Given the description of an element on the screen output the (x, y) to click on. 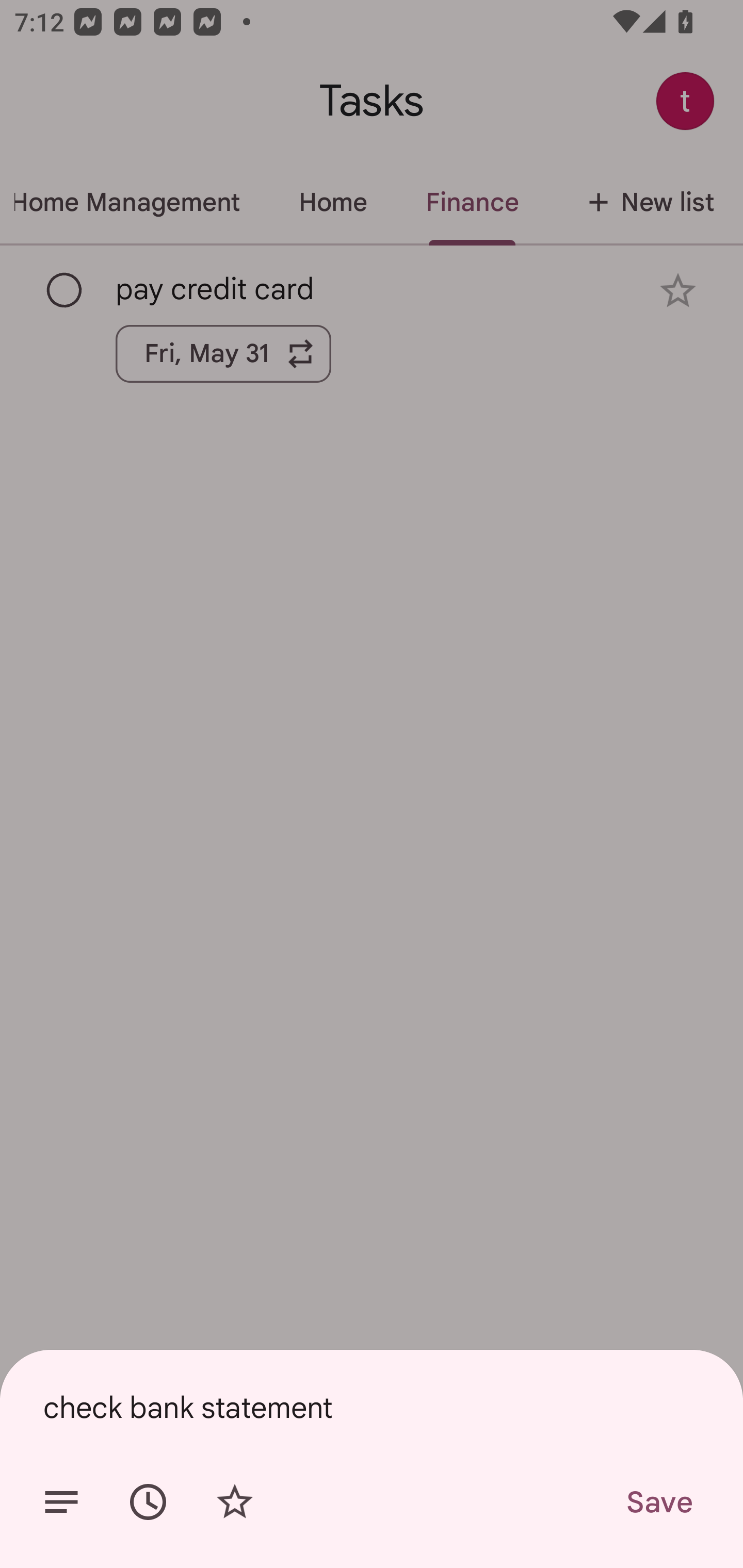
check bank statement (371, 1407)
Save (659, 1501)
Add details (60, 1501)
Set date/time (147, 1501)
Add star (234, 1501)
